Given the description of an element on the screen output the (x, y) to click on. 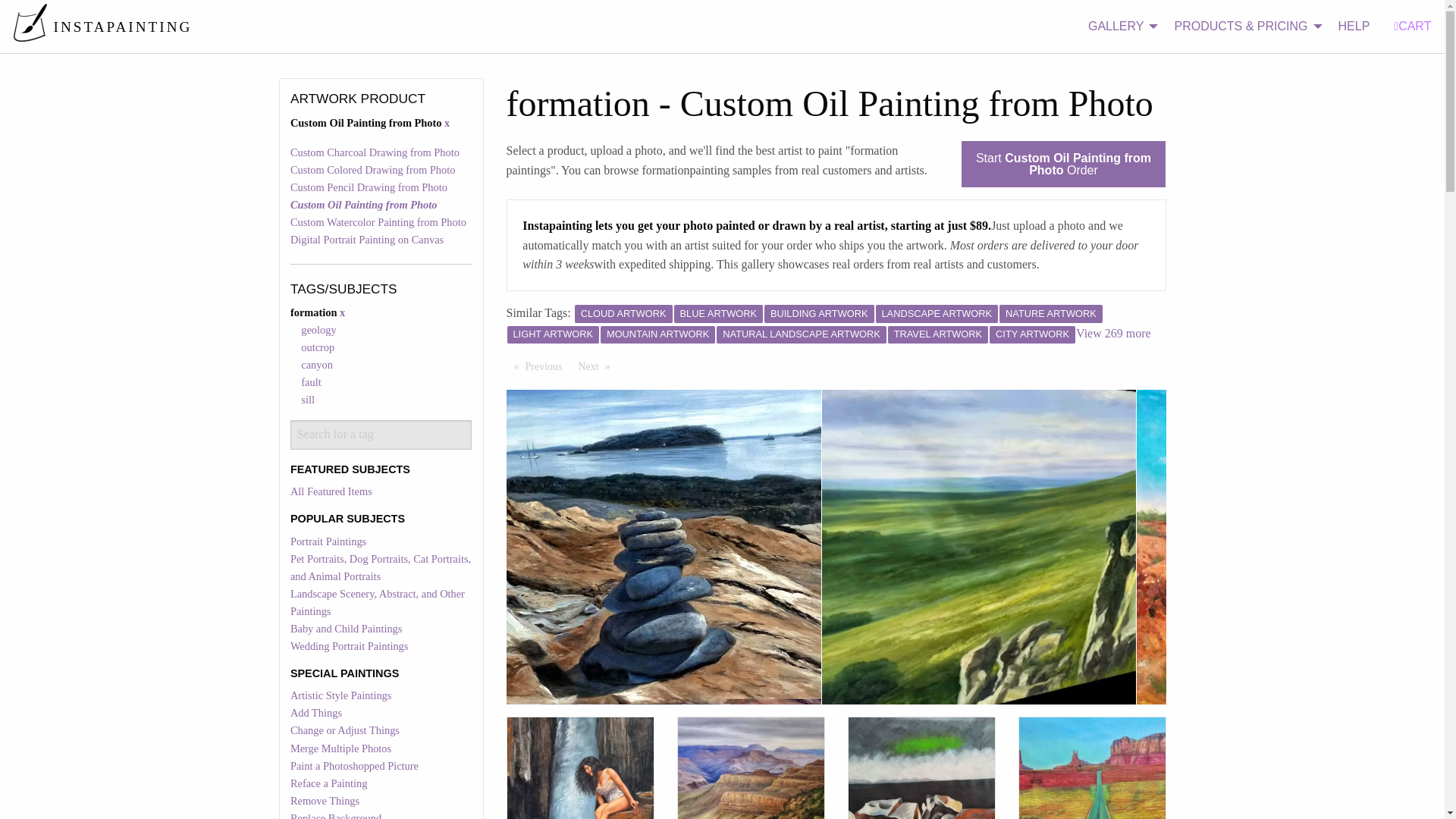
INSTAPAINTING (102, 26)
GALLERY (1118, 26)
